Given the description of an element on the screen output the (x, y) to click on. 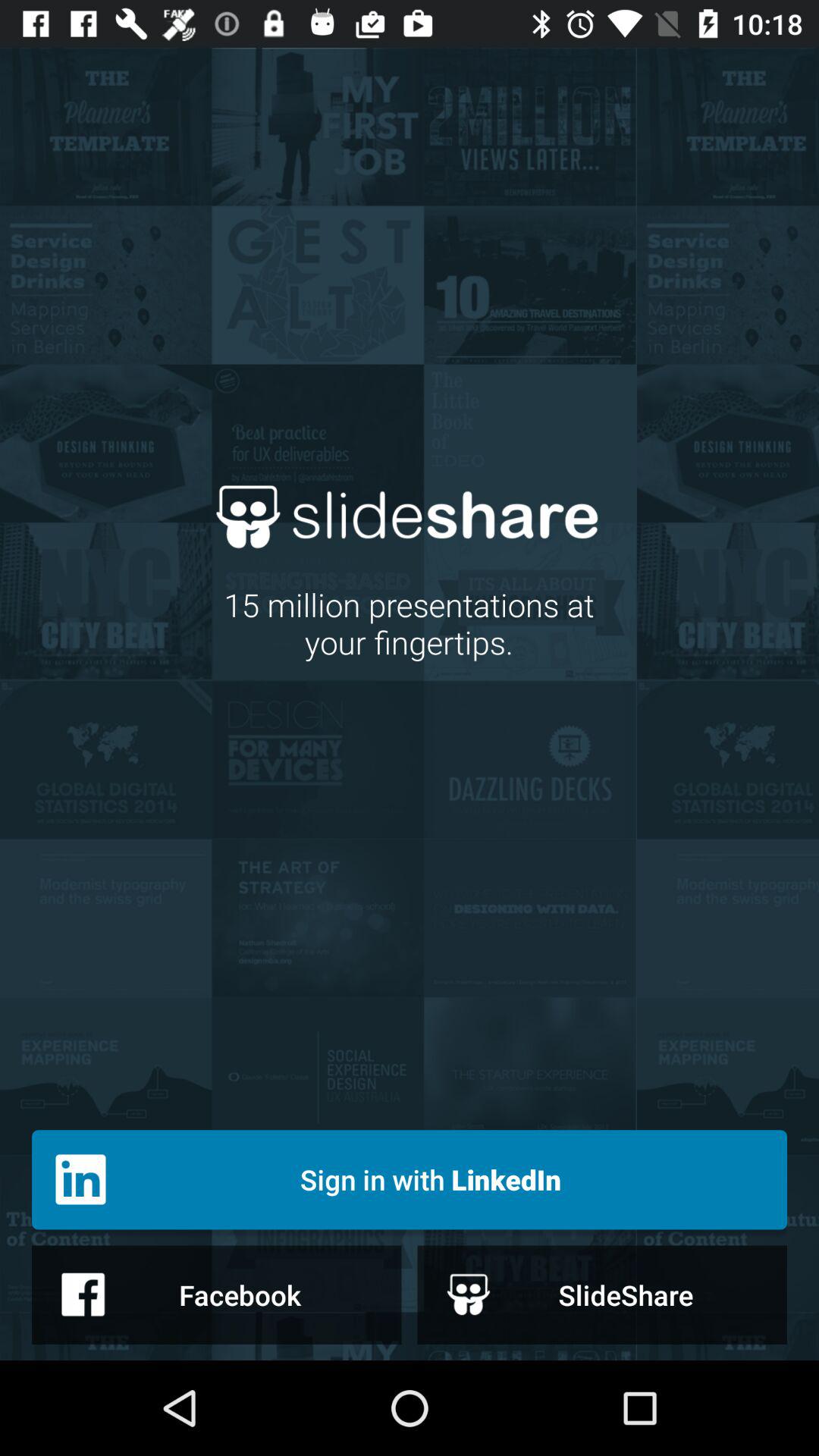
turn on the facebook icon (216, 1294)
